Given the description of an element on the screen output the (x, y) to click on. 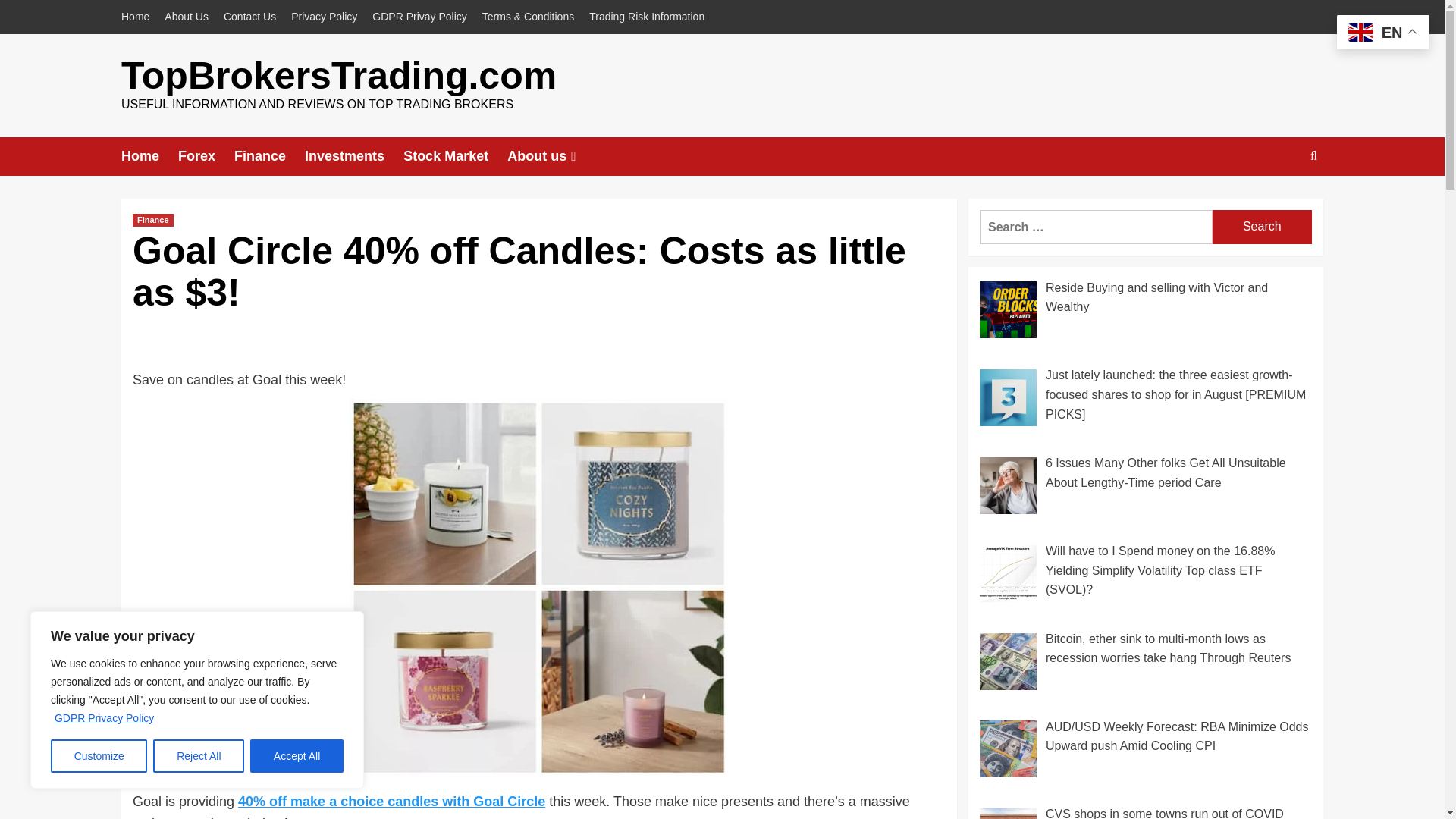
TopBrokersTrading.com (338, 75)
Search (1278, 202)
Investments (353, 156)
Contact Us (249, 17)
Trading Risk Information (645, 17)
Reject All (198, 756)
Home (148, 156)
Customize (98, 756)
About us (552, 156)
GDPR Privacy Policy (103, 717)
Privacy Policy (324, 17)
GDPR Privay Policy (419, 17)
Forex (205, 156)
Accept All (296, 756)
About Us (186, 17)
